Given the description of an element on the screen output the (x, y) to click on. 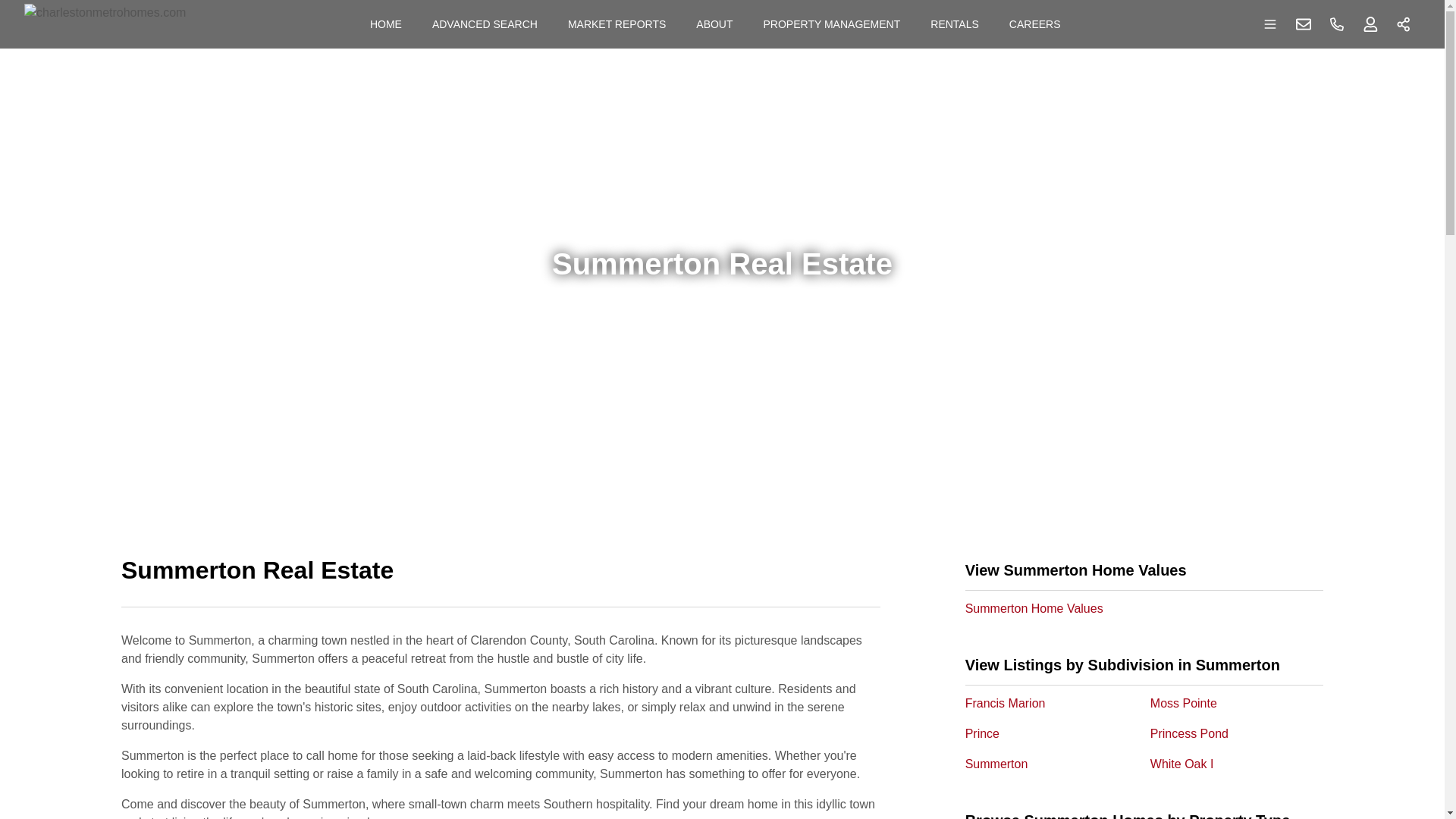
charlestonmetrohomes.com (105, 24)
CAREERS (1035, 24)
MARKET REPORTS (617, 24)
ABOUT (714, 24)
Summerton Real Estate (500, 579)
ADVANCED SEARCH (485, 24)
Sign up or Sign in (1370, 23)
HOME (385, 24)
Contact us (1303, 23)
RENTALS (954, 24)
